Given the description of an element on the screen output the (x, y) to click on. 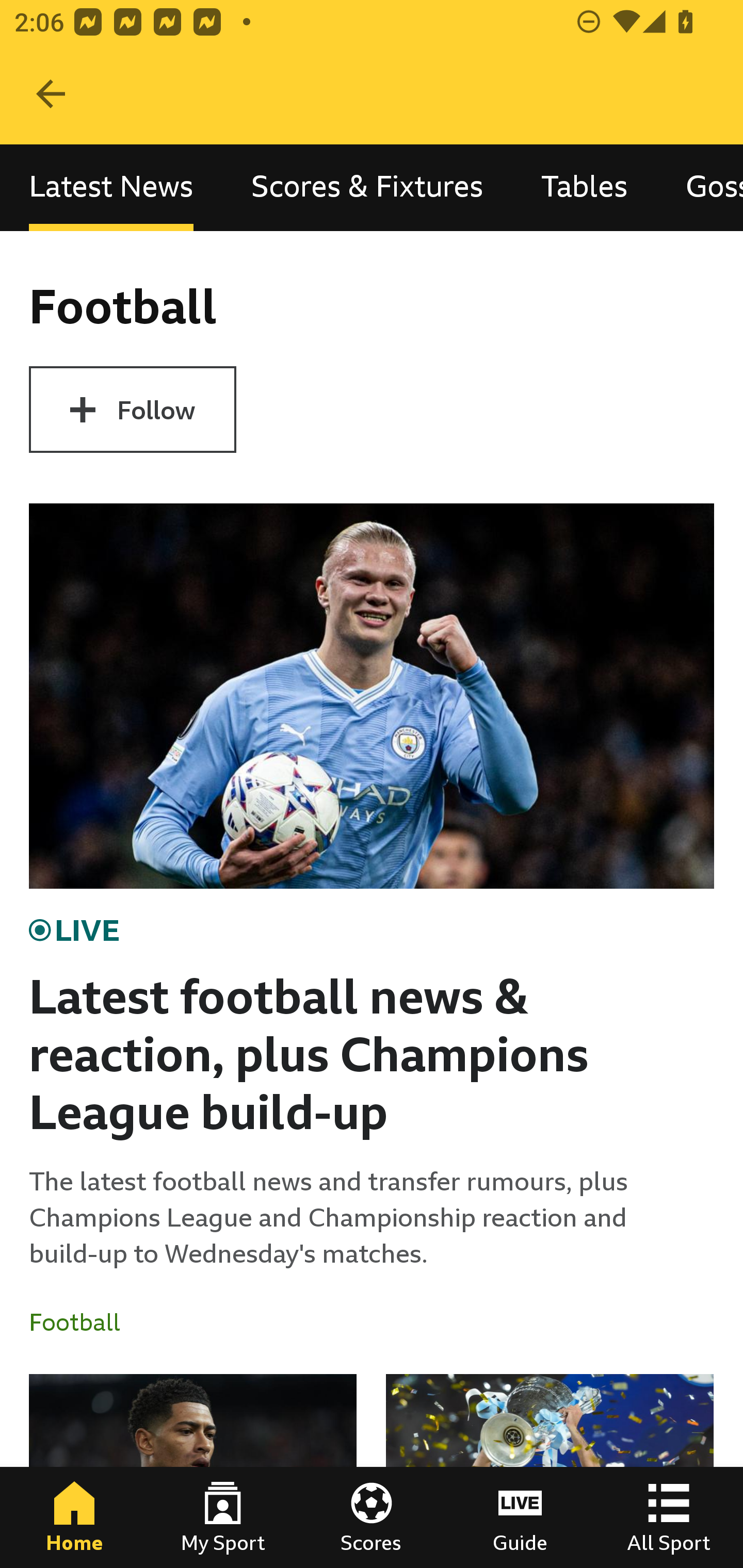
Navigate up (50, 93)
Latest News, selected Latest News (111, 187)
Scores & Fixtures (367, 187)
Tables (584, 187)
Gossip (699, 187)
Follow Football Follow (132, 409)
My Sport (222, 1517)
Scores (371, 1517)
Guide (519, 1517)
All Sport (668, 1517)
